Given the description of an element on the screen output the (x, y) to click on. 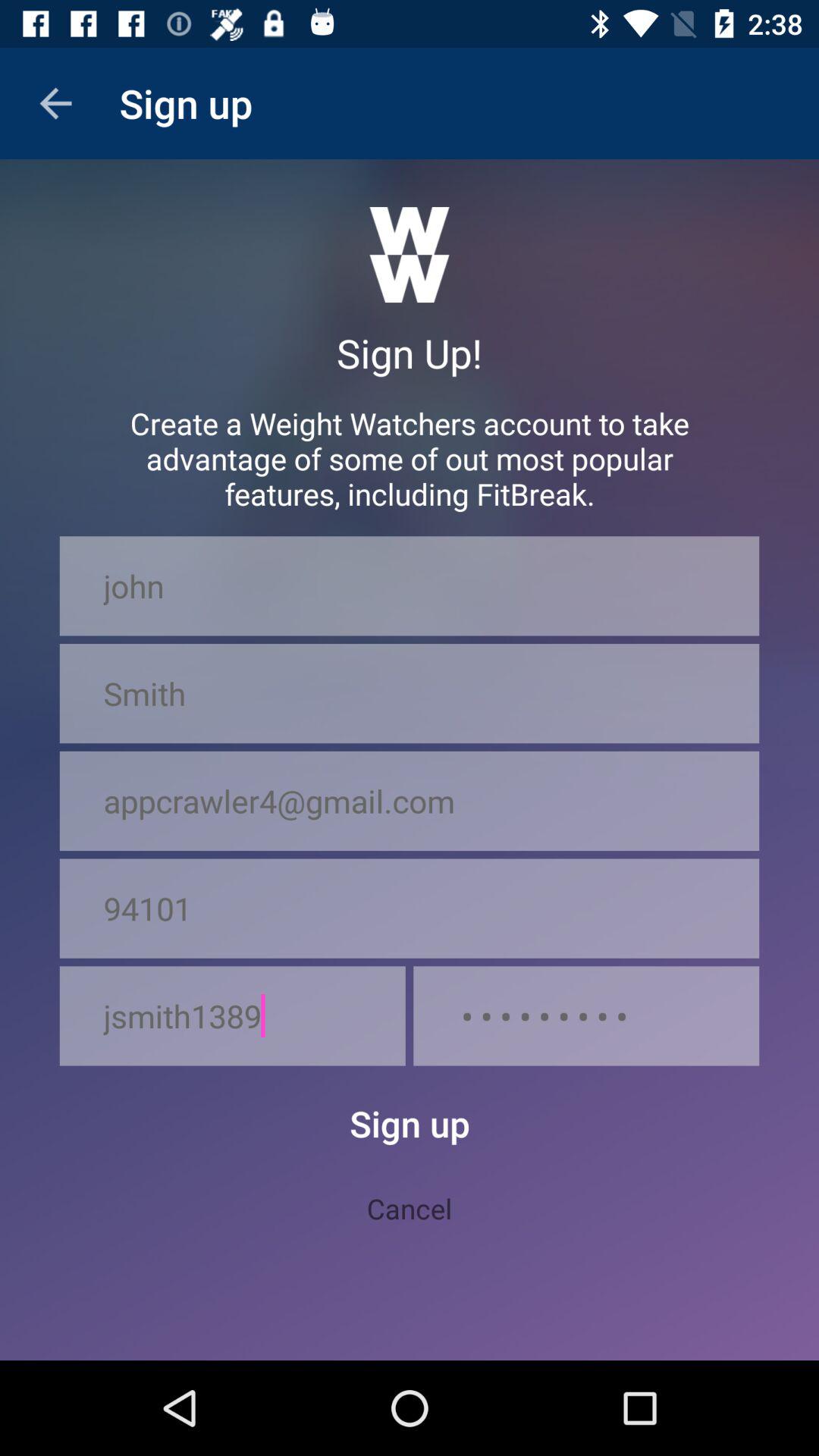
choose item next to jsmith1389 icon (586, 1015)
